Given the description of an element on the screen output the (x, y) to click on. 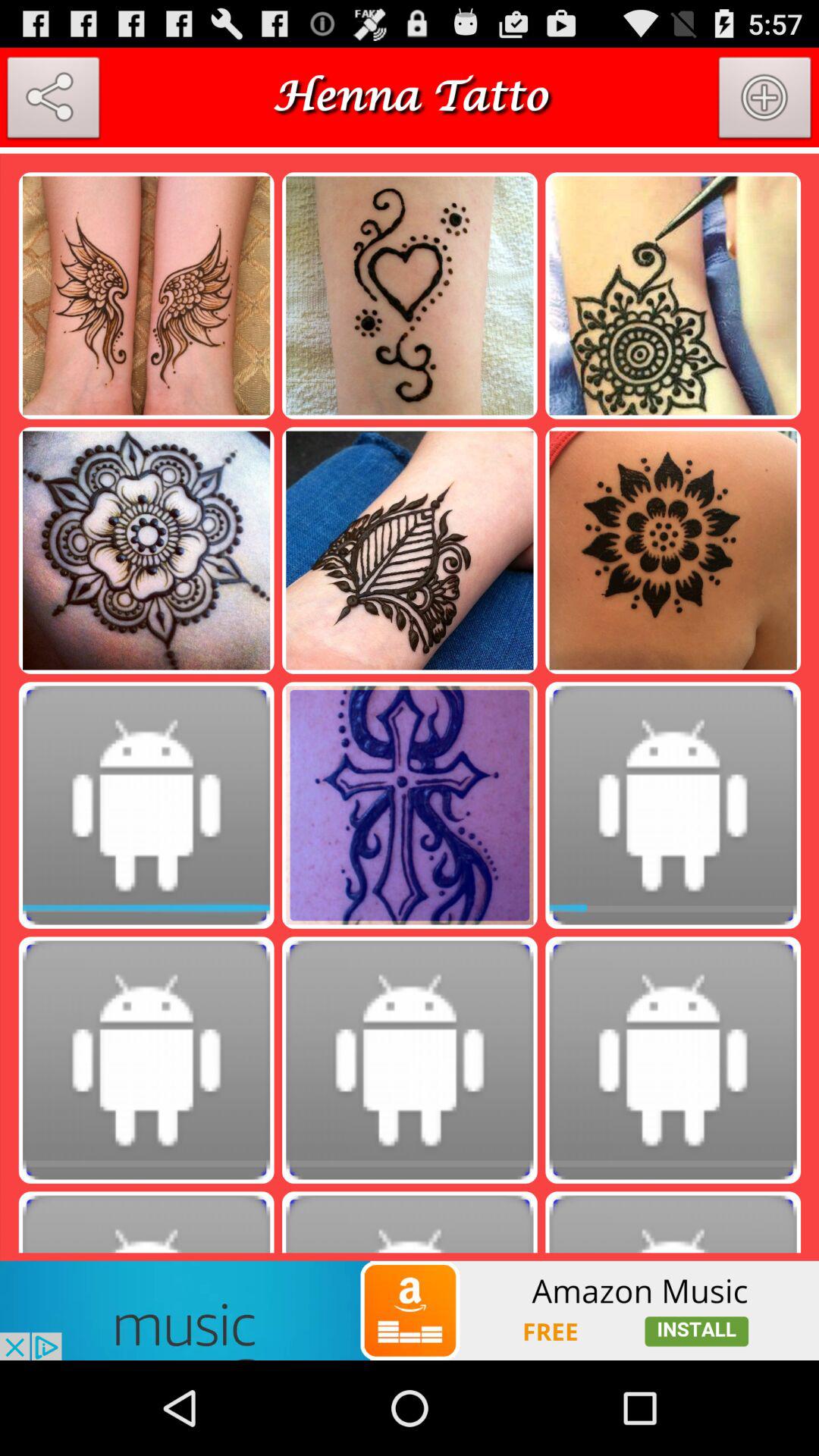
add photo (765, 100)
